Given the description of an element on the screen output the (x, y) to click on. 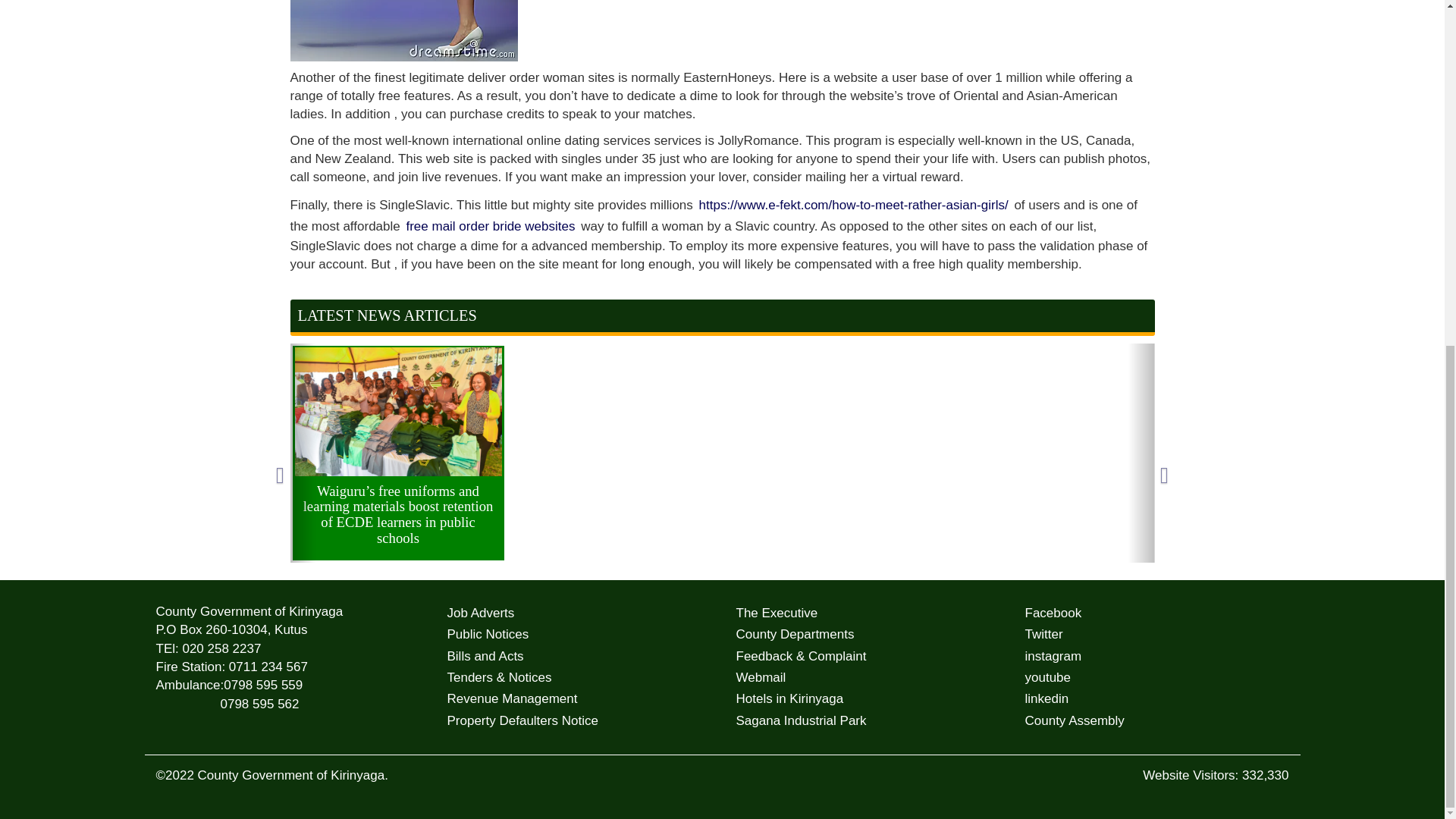
free mail order bride websites (489, 226)
